Given the description of an element on the screen output the (x, y) to click on. 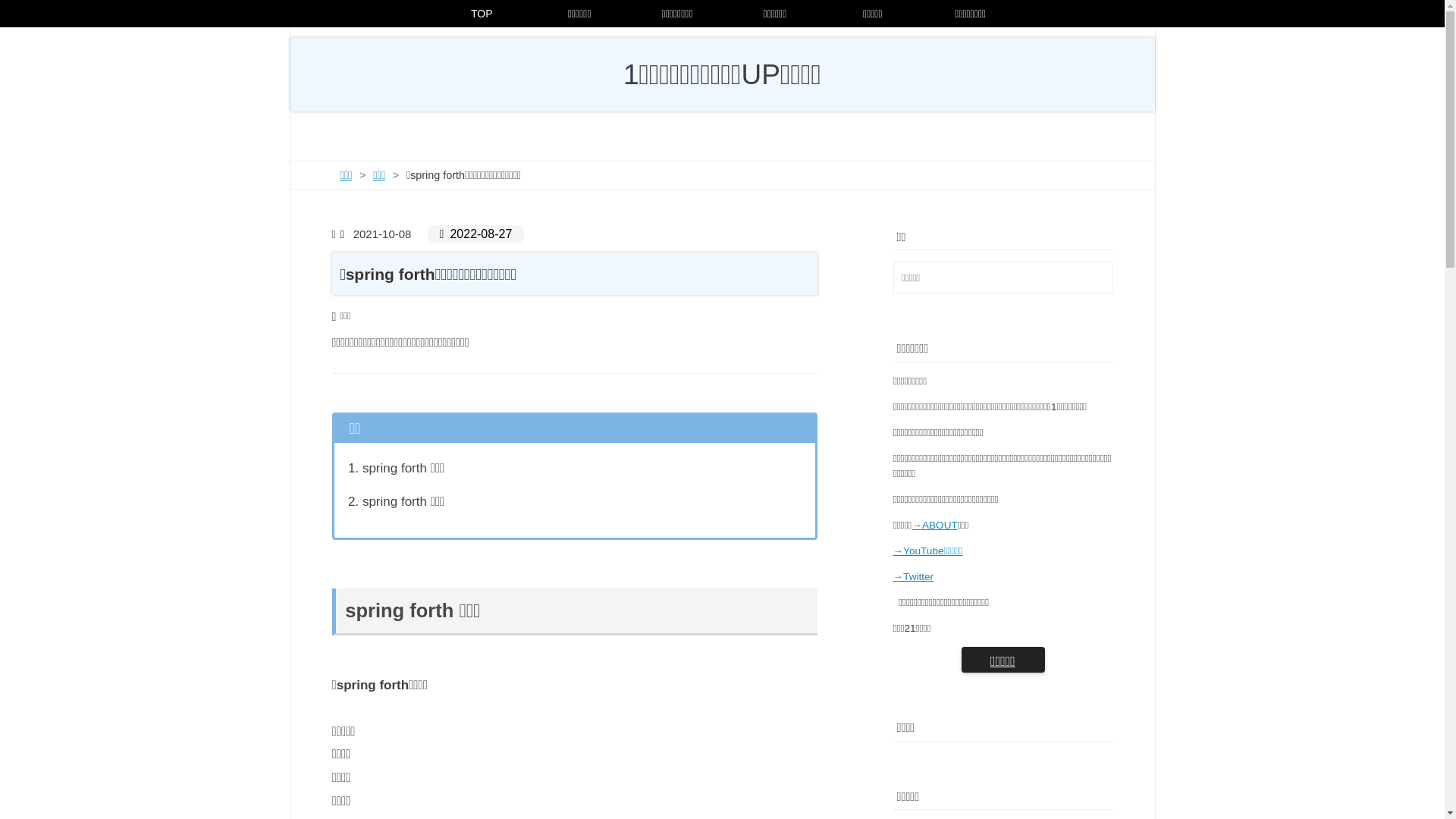
TOP Element type: text (477, 13)
2021-10-08 Element type: text (377, 233)
